Given the description of an element on the screen output the (x, y) to click on. 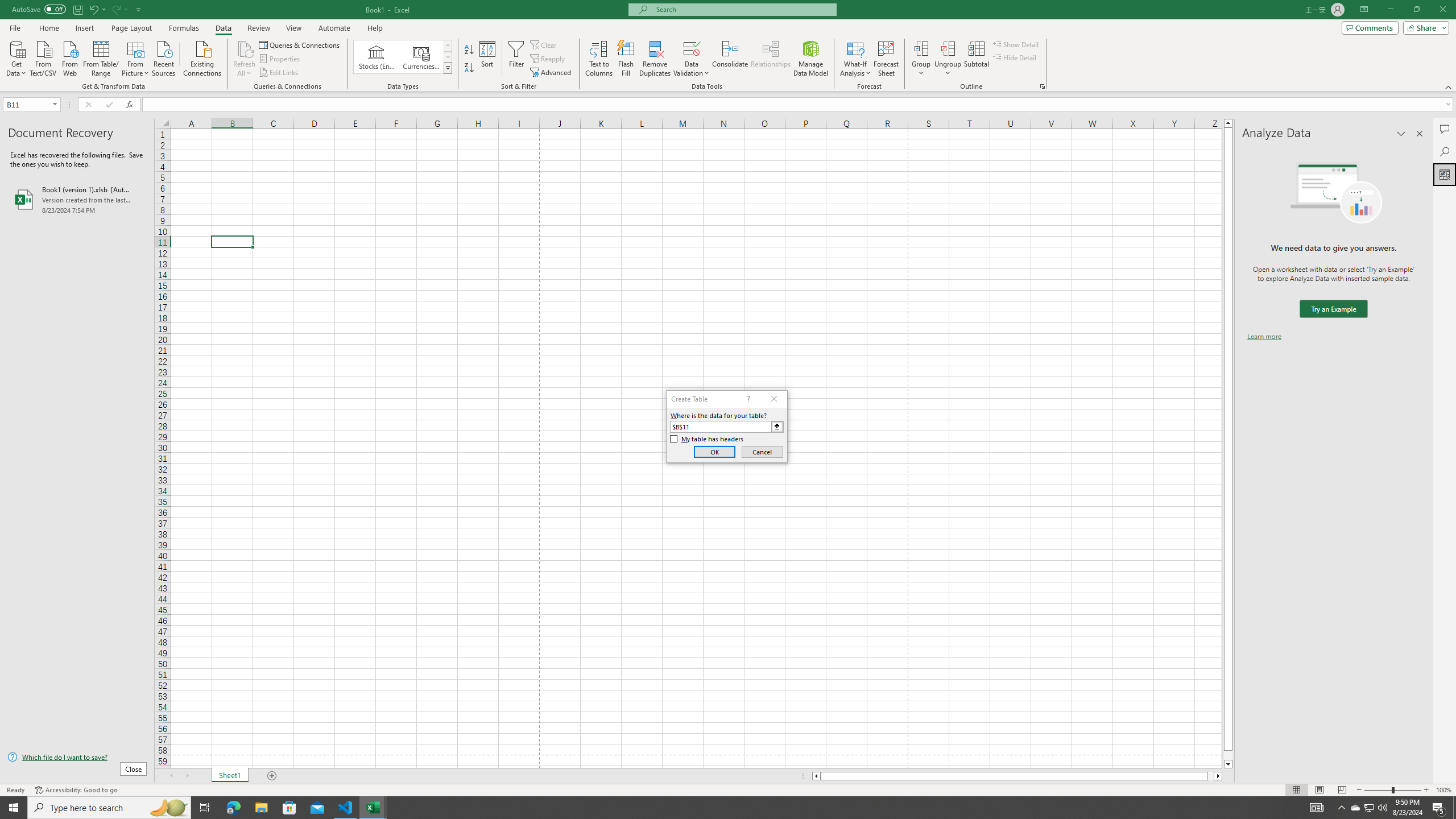
Forecast Sheet (885, 58)
Redo (119, 9)
Column left (815, 775)
Filter (515, 58)
Line up (1228, 122)
Consolidate... (729, 58)
Help (374, 28)
View (293, 28)
Redo (115, 9)
Normal (1296, 790)
Formula Bar (799, 104)
Comments (1369, 27)
Analyze Data (1444, 173)
Stocks (English) (375, 56)
